Given the description of an element on the screen output the (x, y) to click on. 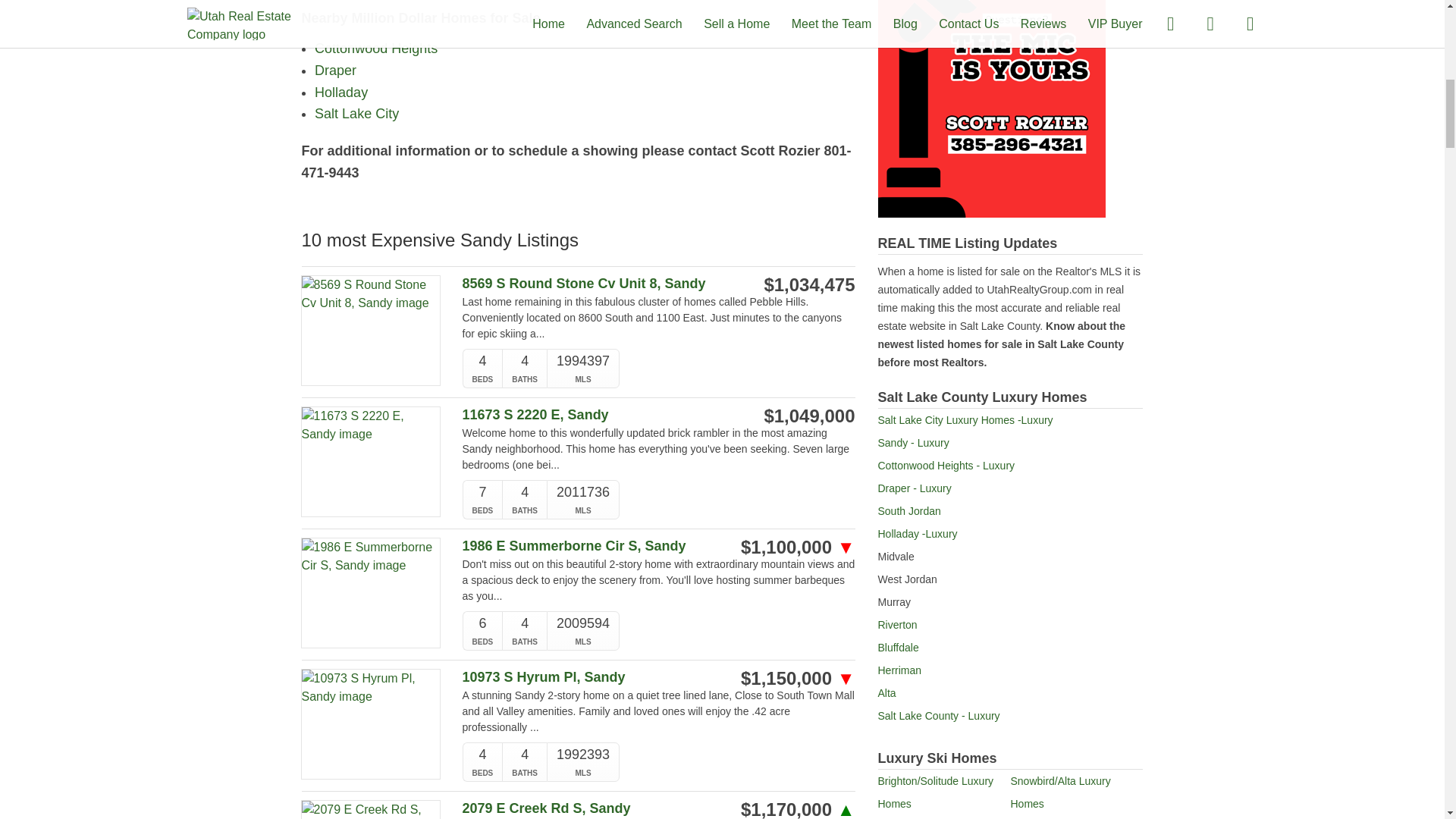
8569 S Round Stone Cv Unit 8, Sandy (600, 283)
million dollar homes for sale in Holladay Utah (341, 92)
11673 S 2220 E, Sandy (600, 415)
million dollar homes for sale in SLC Utah (356, 113)
Million dollar homes for sale in Cottonwood Heights Utah (376, 48)
10973 S Hyrum Pl, Sandy (600, 677)
1986 E Summerborne Cir S, Sandy (600, 546)
million dollar homes for sale in Draper Utah (335, 70)
Cottonwood Heights (376, 48)
Draper (335, 70)
Salt Lake City (356, 113)
Holladay (341, 92)
2079 E Creek Rd S, Sandy (600, 808)
